Given the description of an element on the screen output the (x, y) to click on. 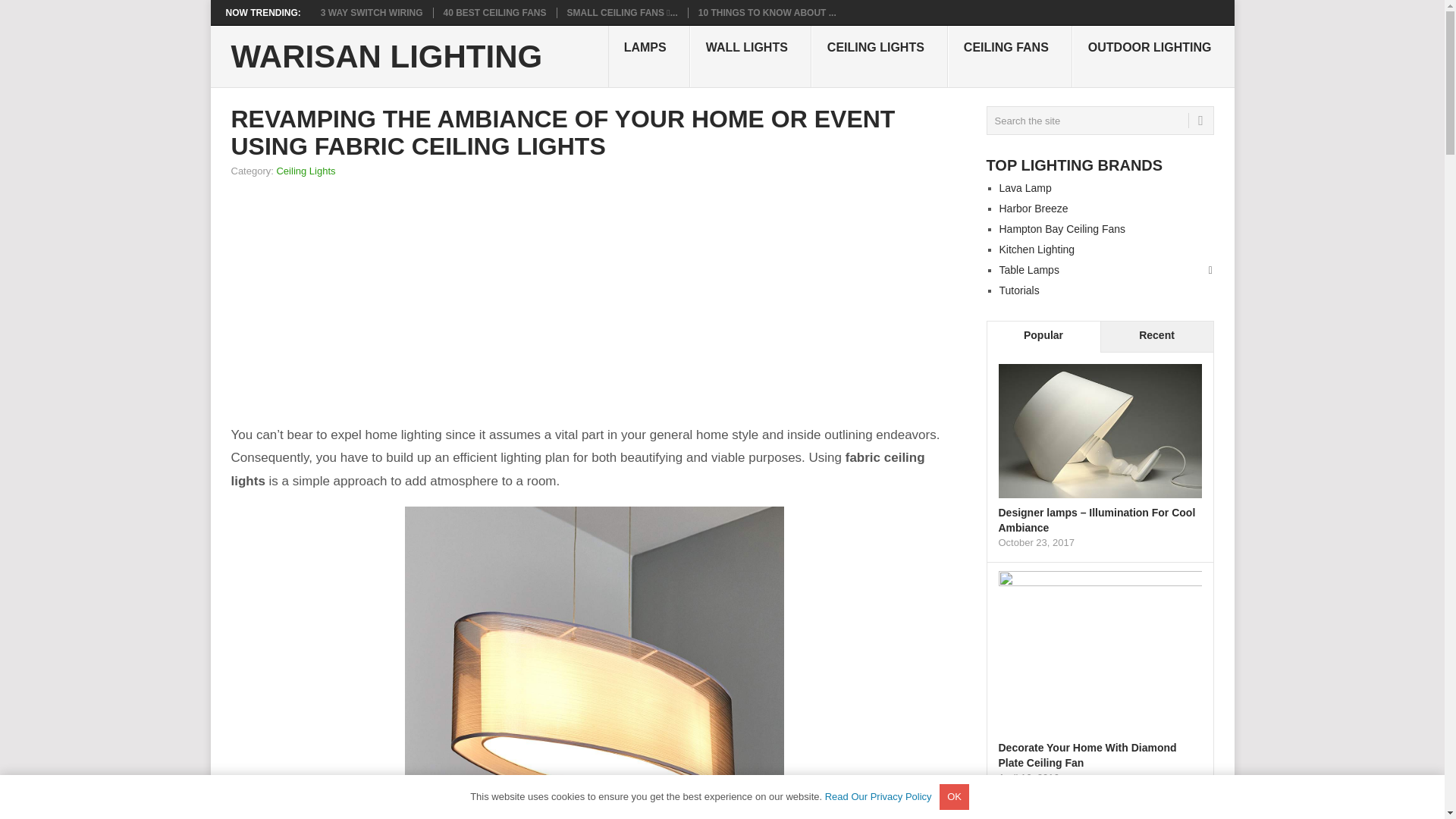
10 THINGS TO KNOW ABOUT ... (766, 12)
Advertisement (774, 303)
Harbor Breeze (1033, 208)
Ceiling Lights (305, 170)
Hampton Bay Ceiling Fans (1061, 228)
WALL LIGHTS (750, 56)
Popular (1043, 336)
Tutorials (1018, 290)
Advertisement (432, 303)
Table Lamps (1028, 269)
40 Best Ceiling Fans (495, 12)
40 BEST CEILING FANS (495, 12)
Search the site (1098, 120)
3 way switch wiring (371, 12)
Decorate Your Home With Diamond Plate Ceiling Fan (1086, 755)
